Given the description of an element on the screen output the (x, y) to click on. 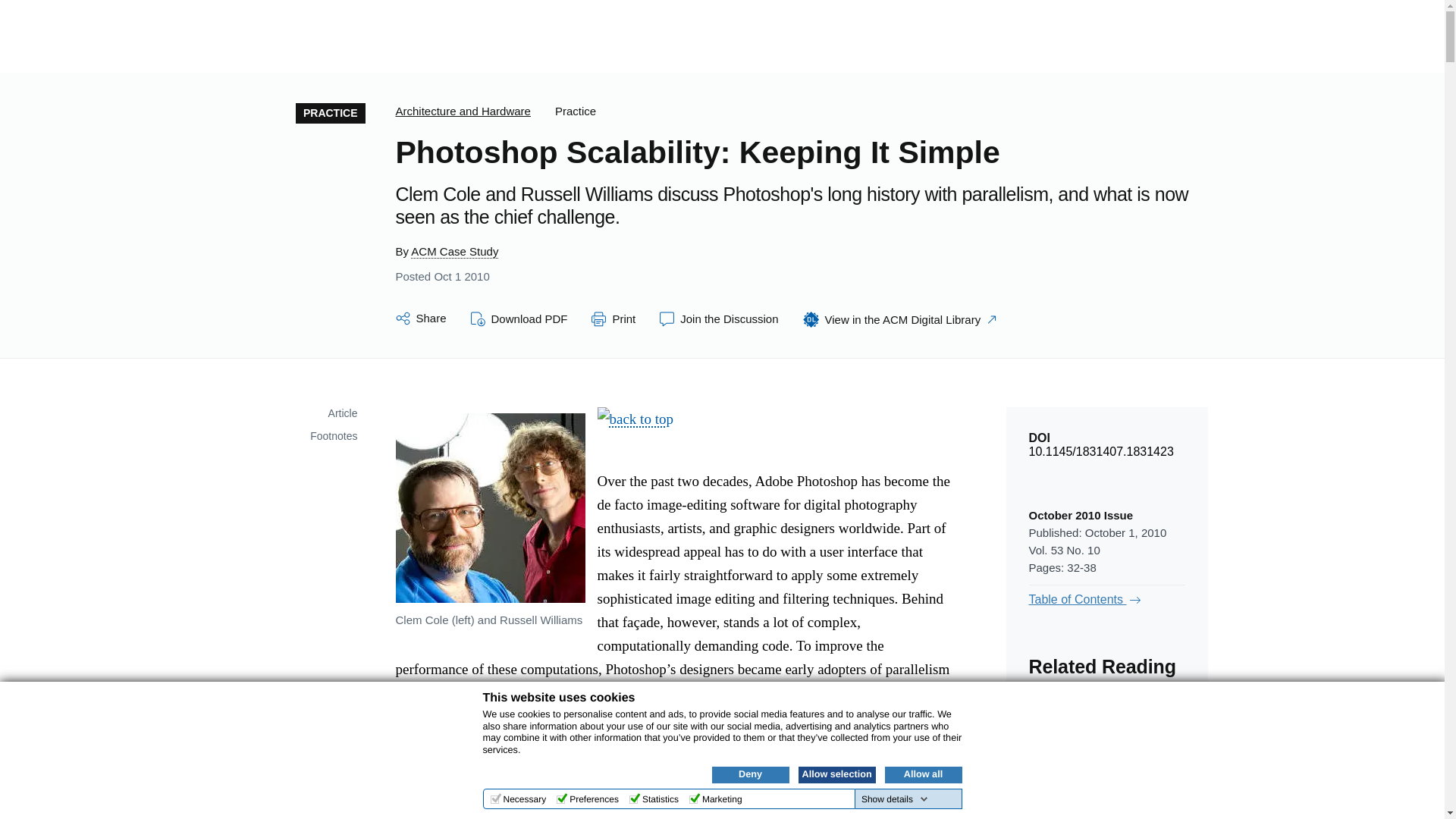
Allow all (921, 774)
Show details (895, 799)
Allow selection (836, 774)
Deny (750, 774)
